Given the description of an element on the screen output the (x, y) to click on. 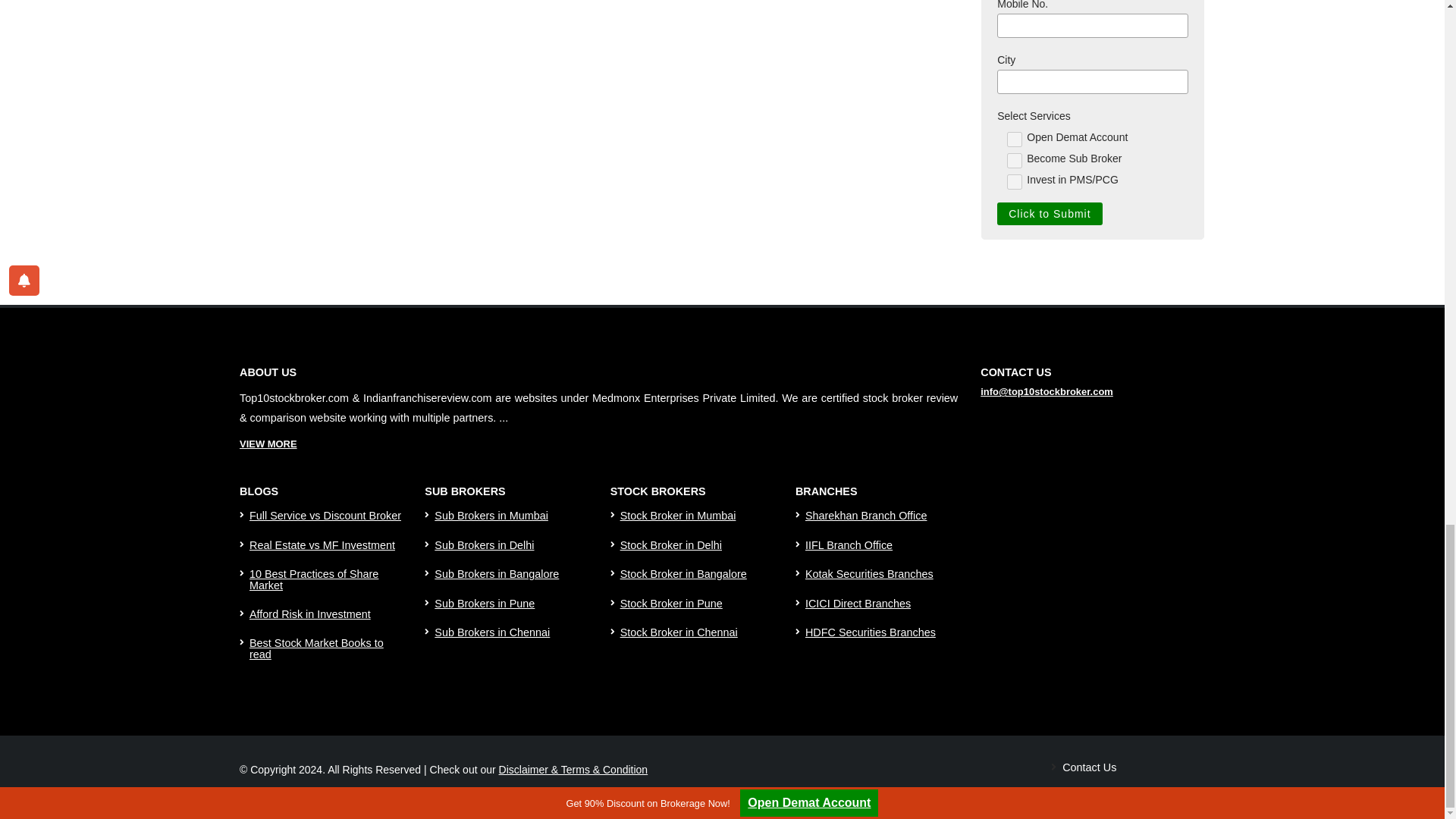
Click to Submit (1049, 213)
Become Sub Broker (1014, 160)
Open Demat Account (1014, 139)
